Given the description of an element on the screen output the (x, y) to click on. 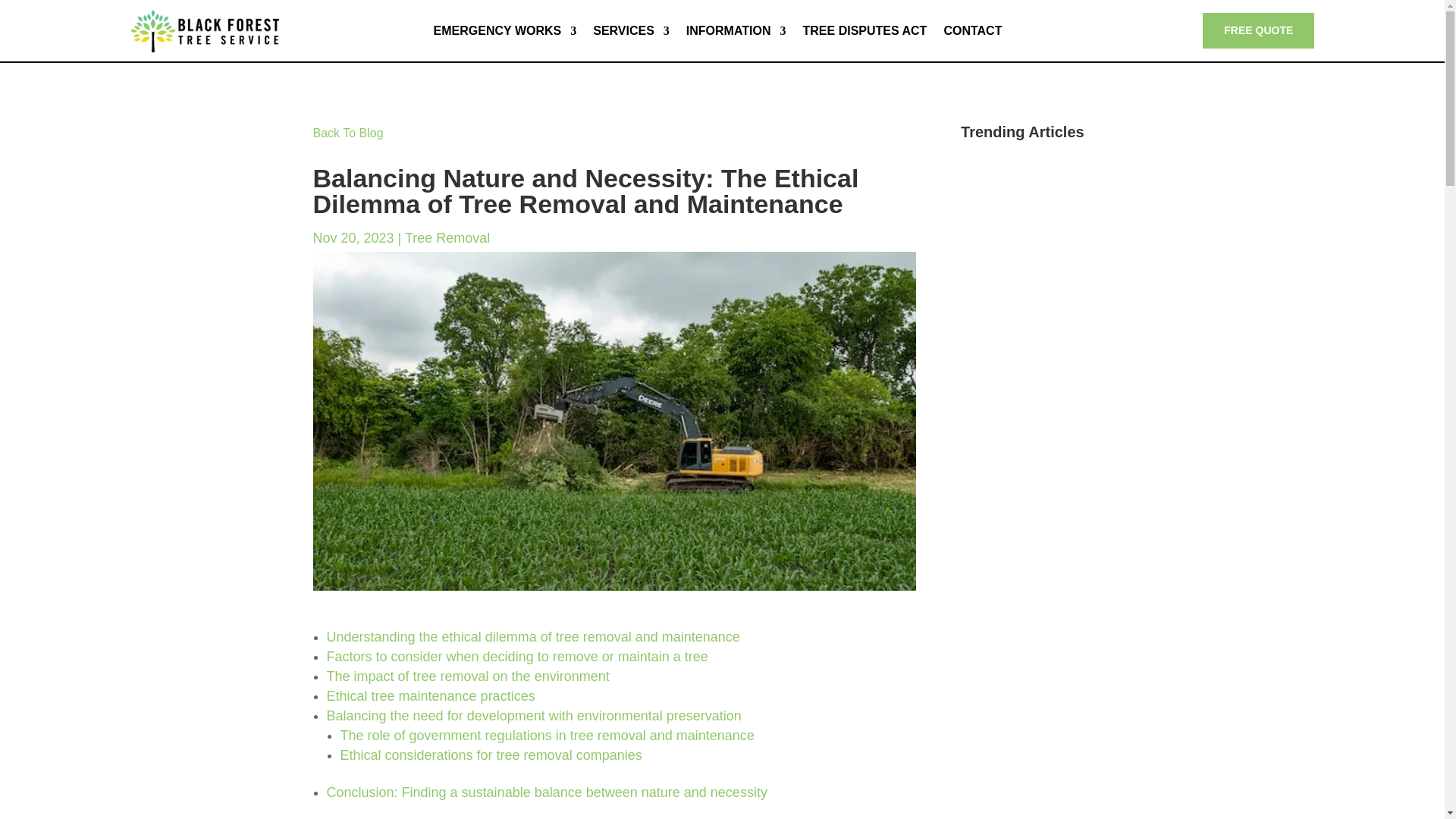
Ethical tree maintenance practices (430, 695)
TREE DISPUTES ACT (865, 30)
FREE QUOTE (1258, 31)
Back To Blog (347, 132)
CONTACT (972, 30)
The impact of tree removal on the environment (467, 676)
